Given the description of an element on the screen output the (x, y) to click on. 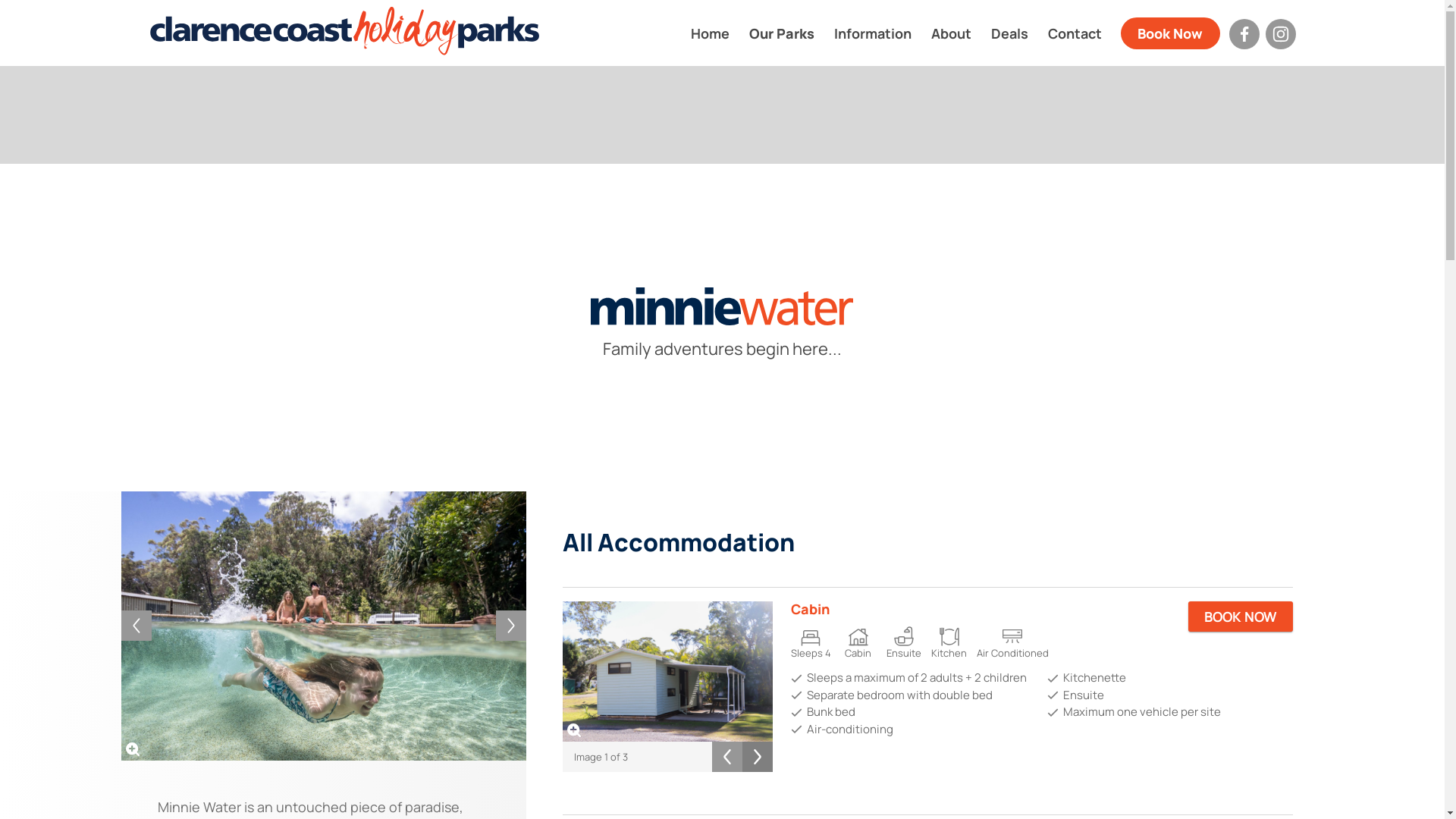
Information Element type: text (871, 32)
Follow us on Instagram Element type: text (1279, 33)
Our Parks Element type: text (780, 32)
Deals Element type: text (1009, 32)
BOOK NOW Element type: text (1240, 616)
Contact Element type: text (1073, 32)
Follow us on Facebook Element type: text (1243, 33)
Home Element type: text (710, 32)
Clarence Coast Holiday Parks Element type: hover (343, 30)
Book Now Element type: text (1170, 32)
About Element type: text (950, 32)
